Given the description of an element on the screen output the (x, y) to click on. 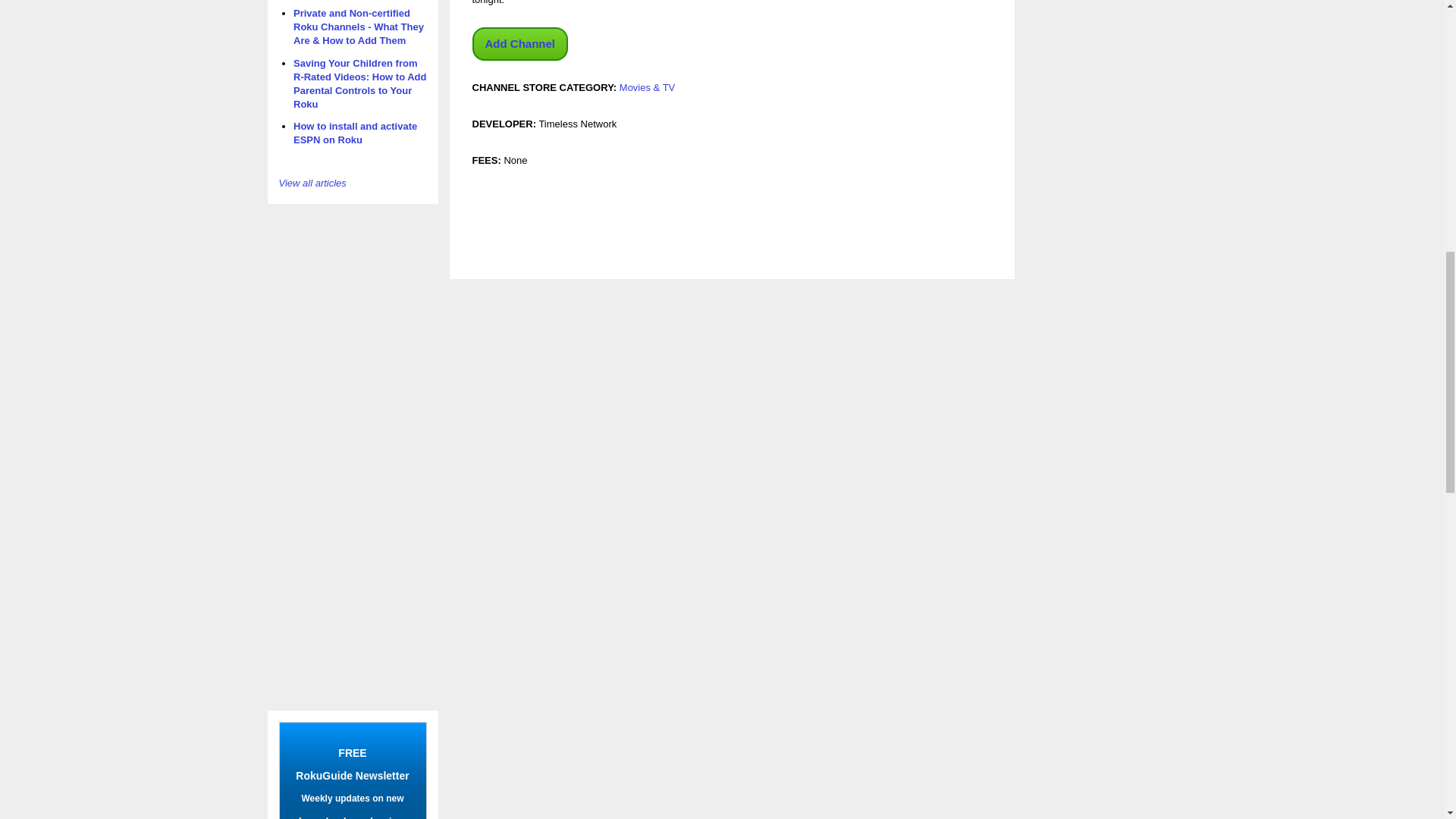
Click to view all articles (312, 183)
How to install and activate ESPN on Roku (355, 132)
View all articles (312, 183)
Add Channel (519, 43)
